Given the description of an element on the screen output the (x, y) to click on. 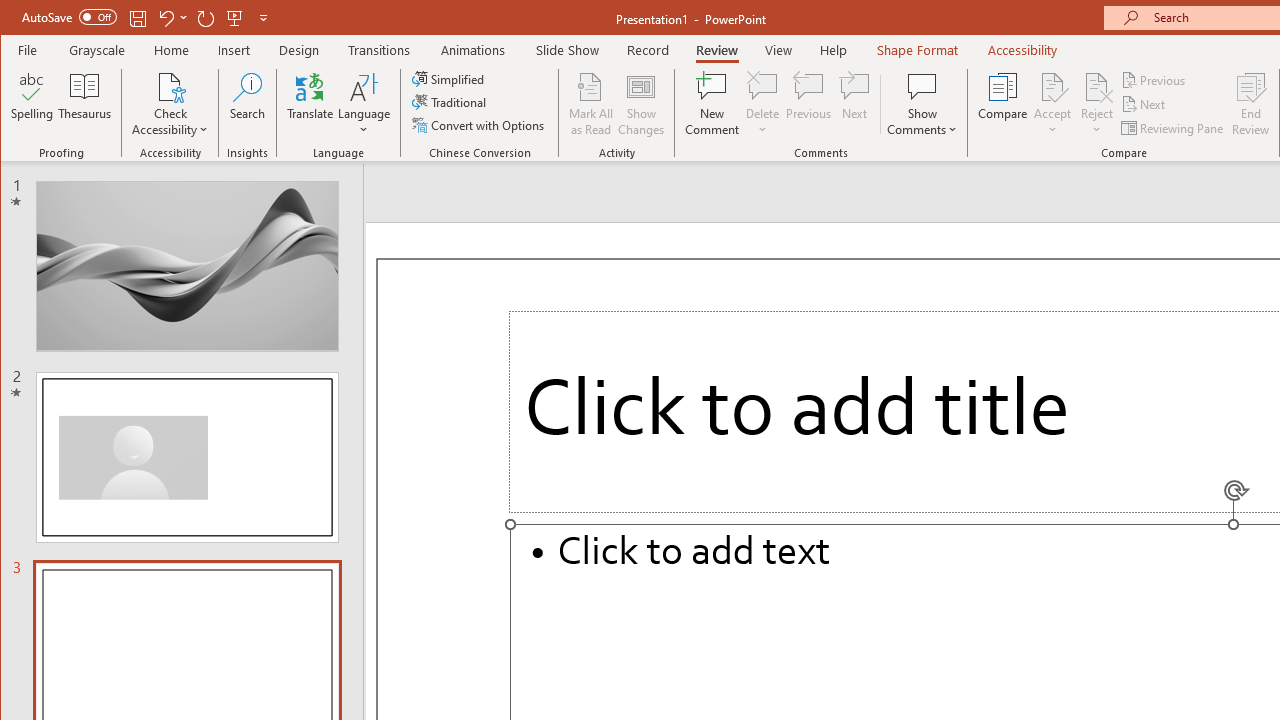
New Comment (712, 104)
Reject (1096, 104)
Show Comments (922, 86)
Grayscale (97, 50)
Accessibility (1023, 50)
Delete (762, 86)
Accept Change (1052, 86)
Check Accessibility (170, 104)
Compare (1002, 104)
Search (247, 104)
